Given the description of an element on the screen output the (x, y) to click on. 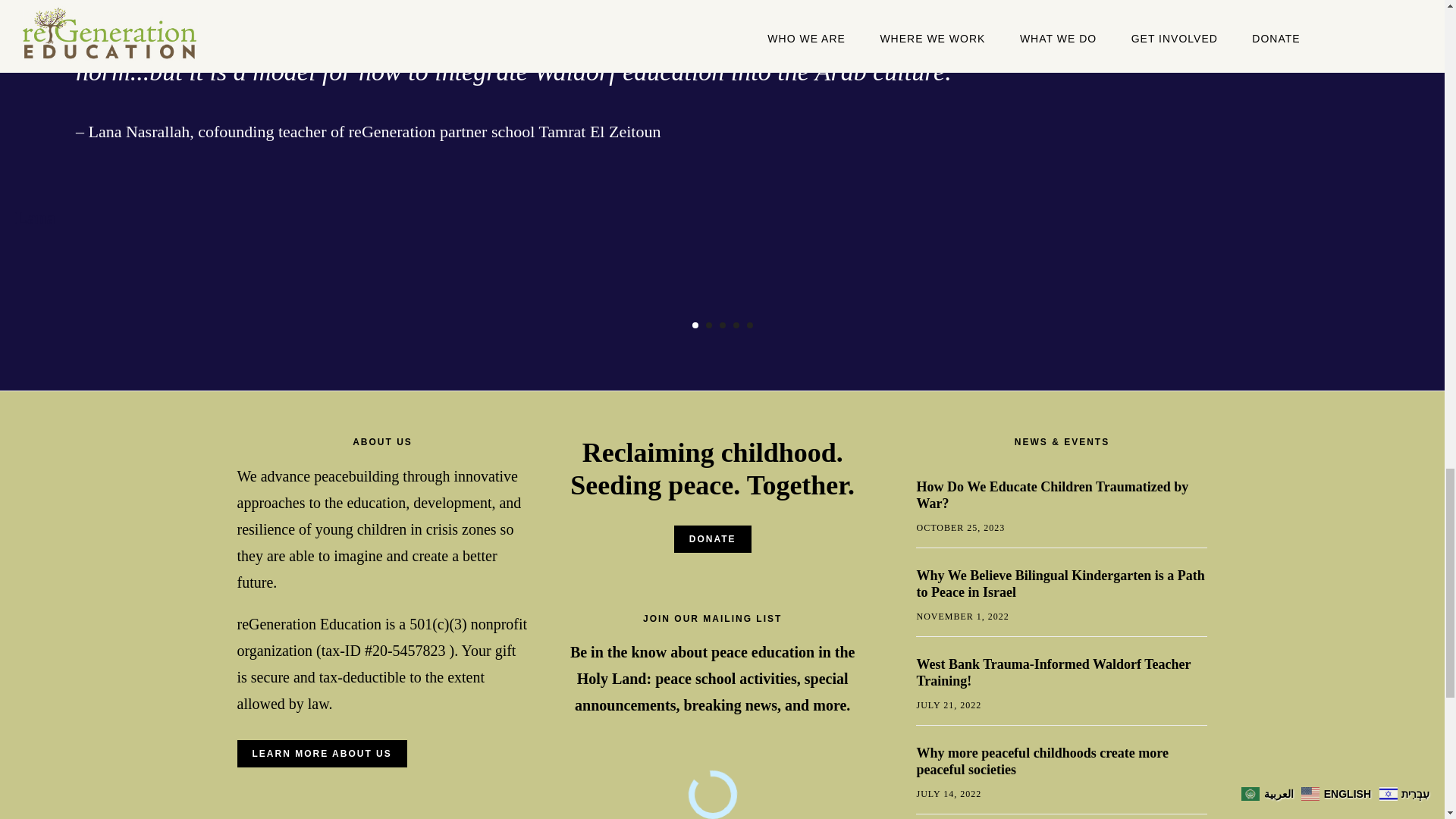
2 (707, 325)
1 (694, 325)
3 (722, 325)
